Given the description of an element on the screen output the (x, y) to click on. 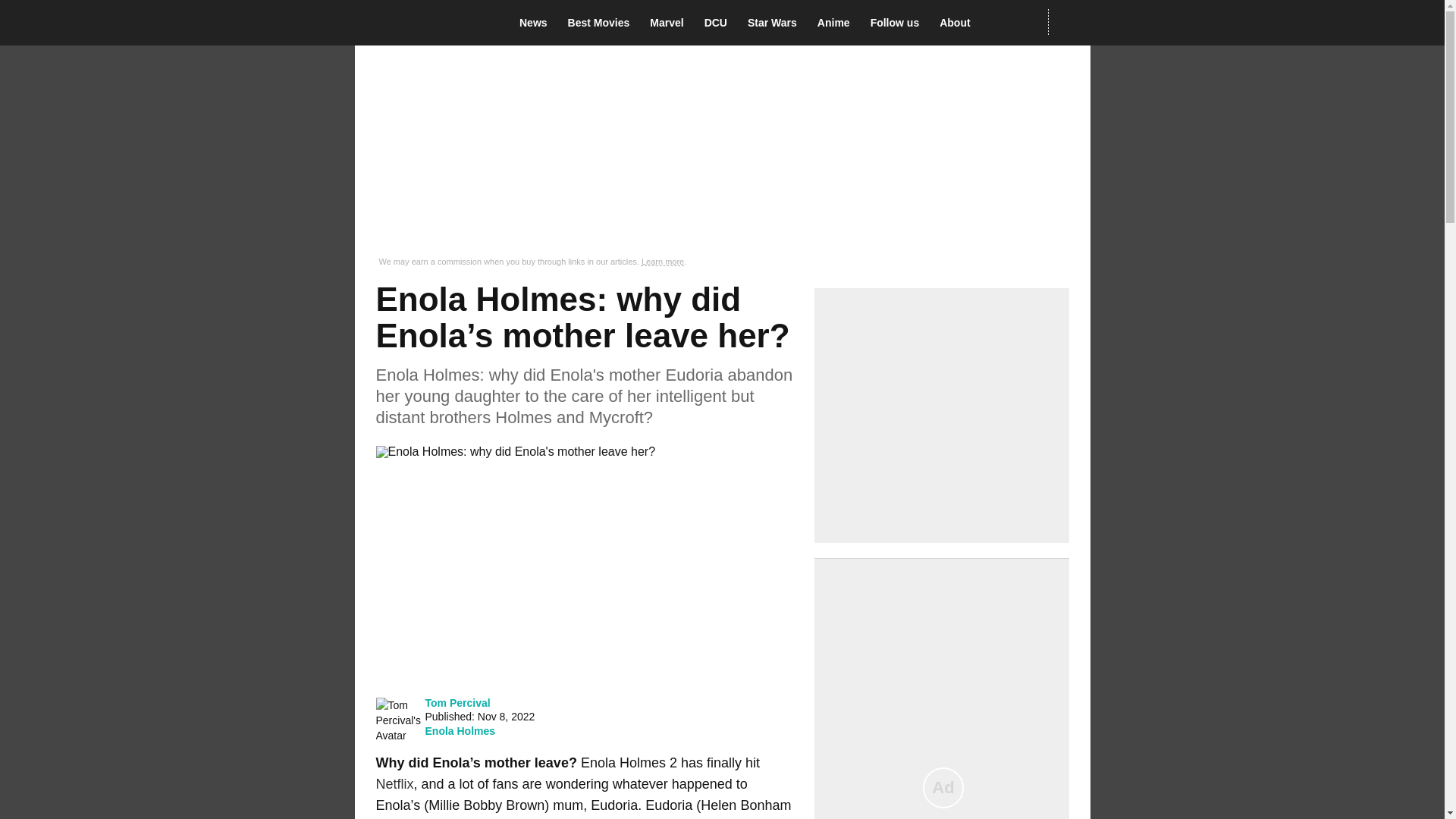
Enola Holmes (460, 730)
Network N Media (1068, 22)
Marvel Cinematic Universe News (671, 22)
Anime (837, 22)
Best Movies (603, 22)
Star Wars (777, 22)
Follow us (899, 22)
Tom Percival (457, 702)
Learn more (663, 261)
The Digital Fix (424, 22)
